Given the description of an element on the screen output the (x, y) to click on. 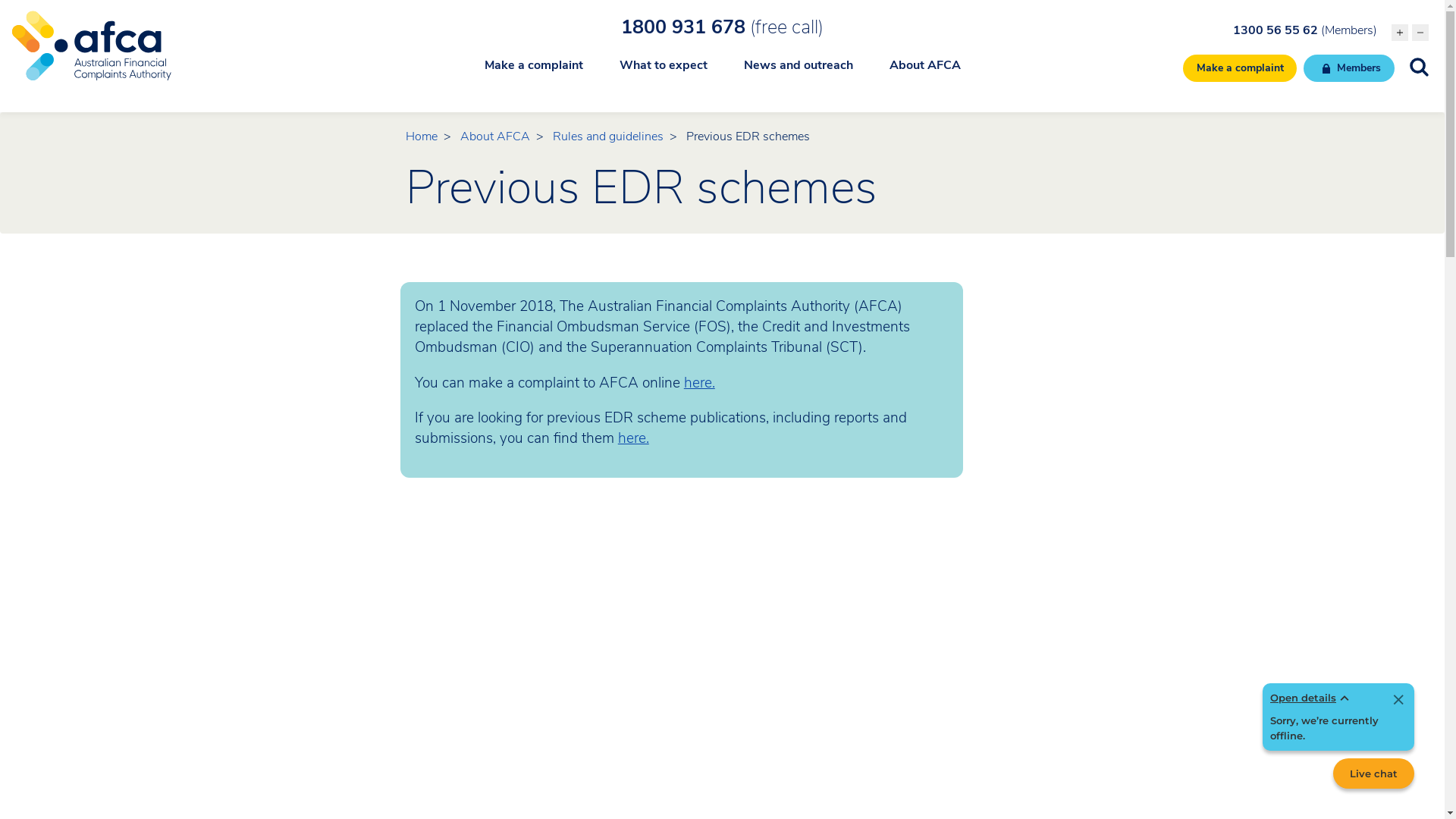
Home Element type: text (421, 136)
Rules and guidelines Element type: text (607, 136)
Search Element type: text (79, 17)
What to expect Element type: text (662, 75)
1300 56 55 62 (Members) Element type: text (1305, 29)
Make a complaint Element type: text (1240, 67)
Click here to perform a search Element type: text (1418, 66)
About AFCA Element type: text (924, 75)
Close the status popup Element type: text (1398, 700)
News and outreach Element type: text (797, 75)
A Element type: text (1420, 32)
here. Element type: text (633, 438)
About AFCA Element type: text (495, 136)
here. Element type: text (699, 382)
Skip to main content Element type: text (721, 1)
A Element type: text (1399, 32)
1800 931 678 (free call) Element type: text (722, 27)
Make a complaint Element type: text (532, 75)
Members Element type: text (1348, 67)
Open details Element type: text (1311, 697)
Live chat Element type: text (1373, 773)
